Given the description of an element on the screen output the (x, y) to click on. 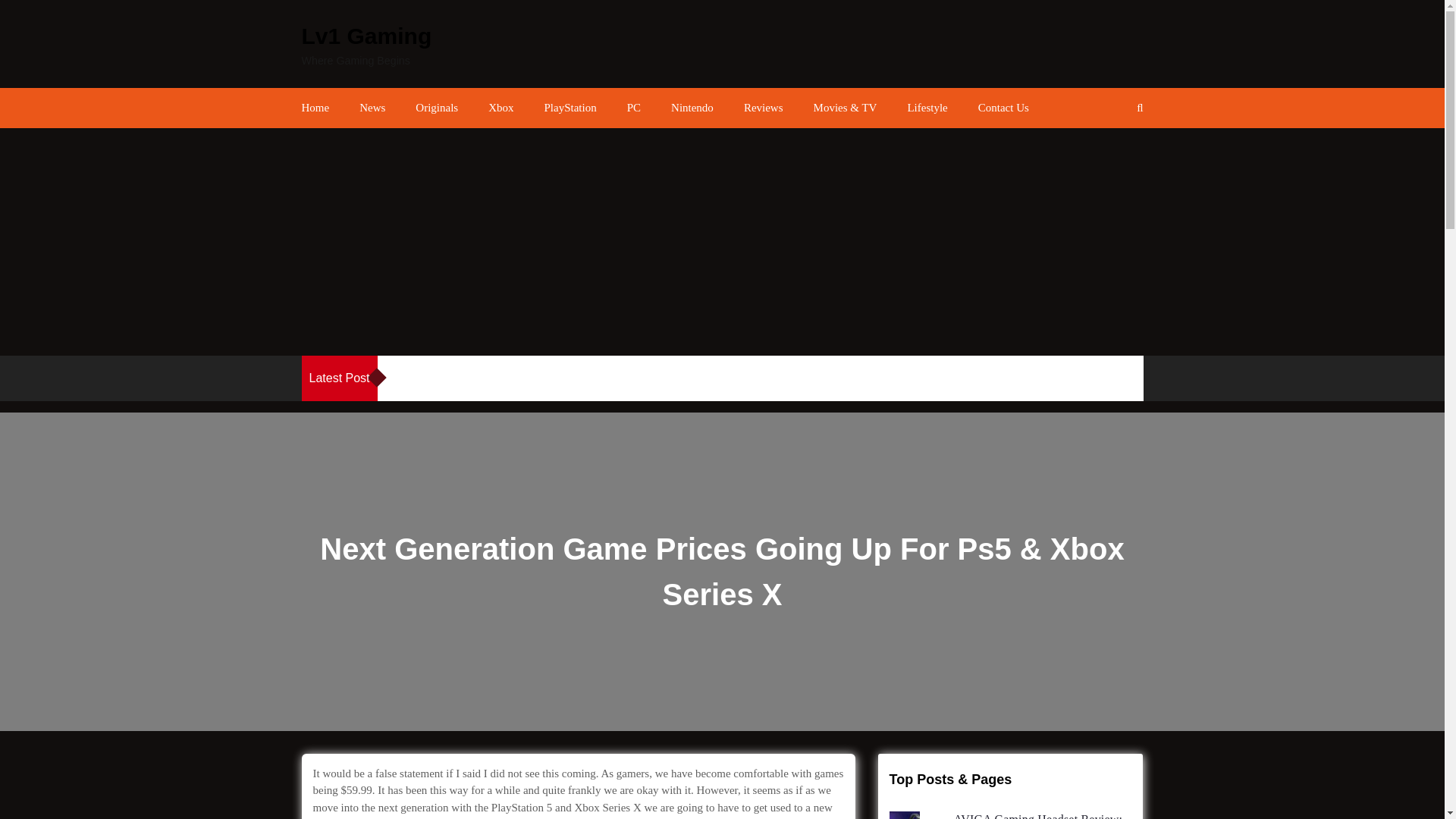
Home (315, 107)
PlayStation (570, 107)
Nintendo (692, 107)
Xbox (500, 107)
PC (633, 107)
Contact Us (1003, 107)
News (372, 107)
Lv1 Gaming (366, 35)
